Given the description of an element on the screen output the (x, y) to click on. 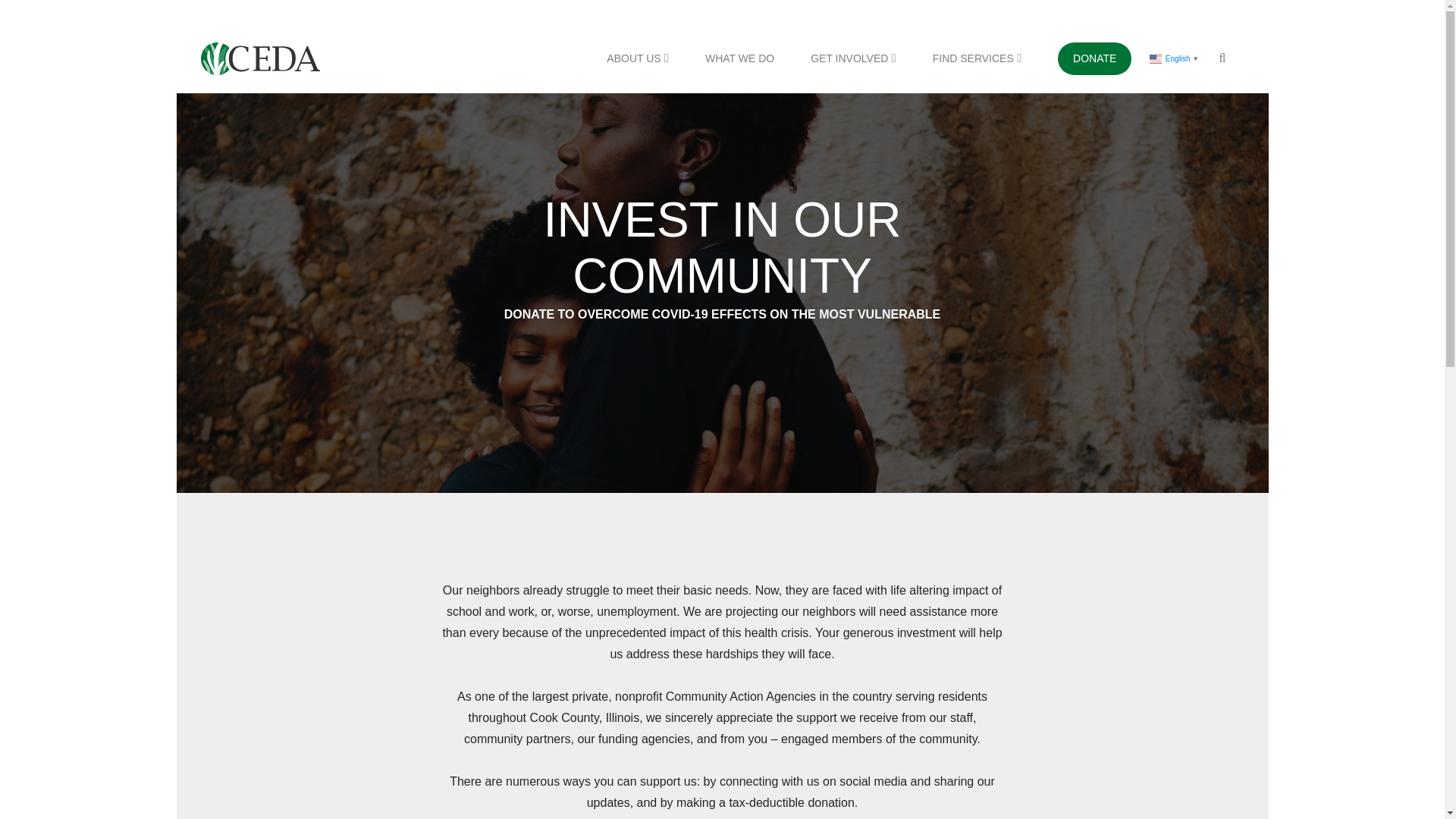
About Us (637, 58)
Find Services (976, 58)
CEDA (259, 58)
ABOUT US (637, 58)
WHAT WE DO (739, 58)
Get Involved (853, 58)
GET INVOLVED (853, 58)
FIND SERVICES (976, 58)
What We Do (739, 58)
DONATE (1094, 58)
